Given the description of an element on the screen output the (x, y) to click on. 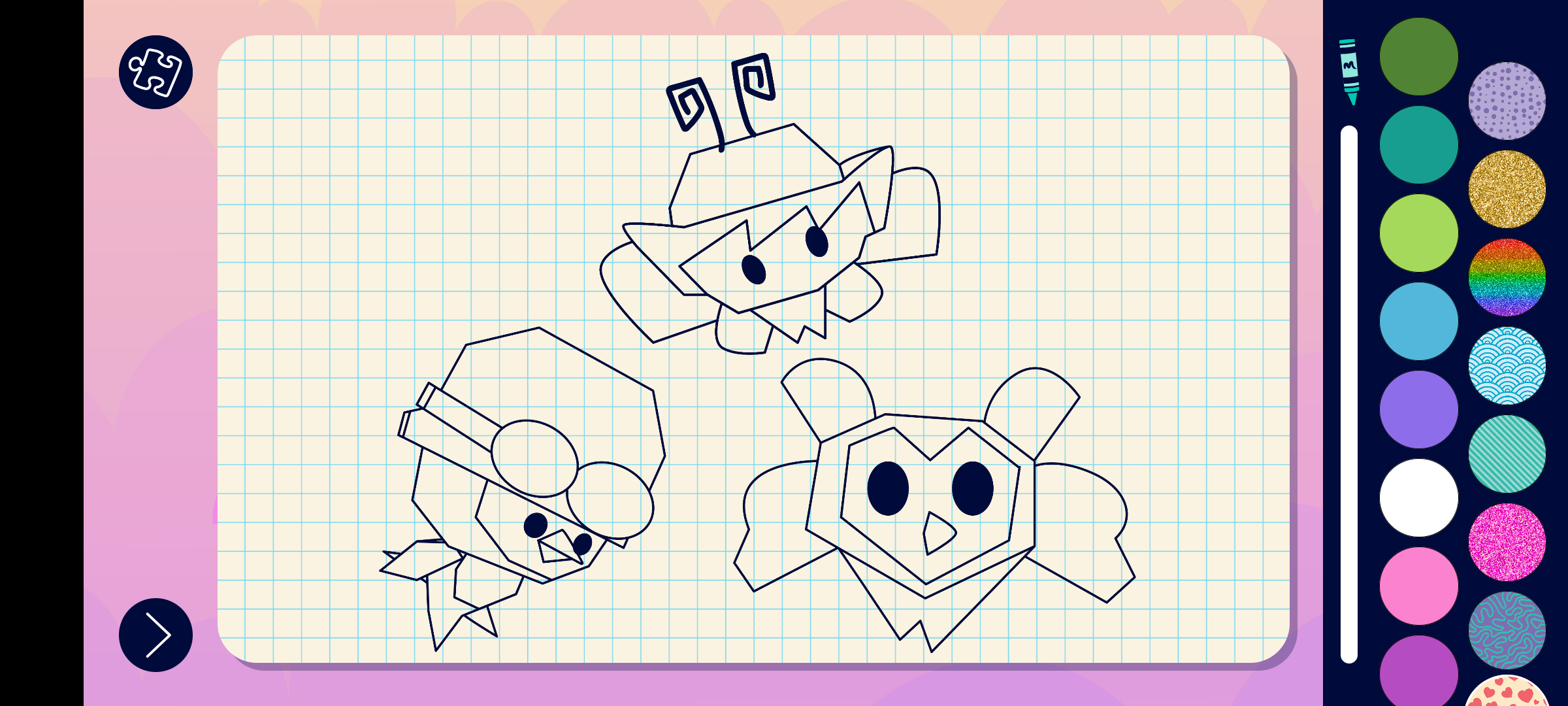
coloring background (1507, 101)
coloring background (1507, 189)
coloring background (1507, 277)
coloring background (1507, 365)
coloring background (1507, 454)
coloring background (1507, 542)
coloring background (1507, 630)
